Given the description of an element on the screen output the (x, y) to click on. 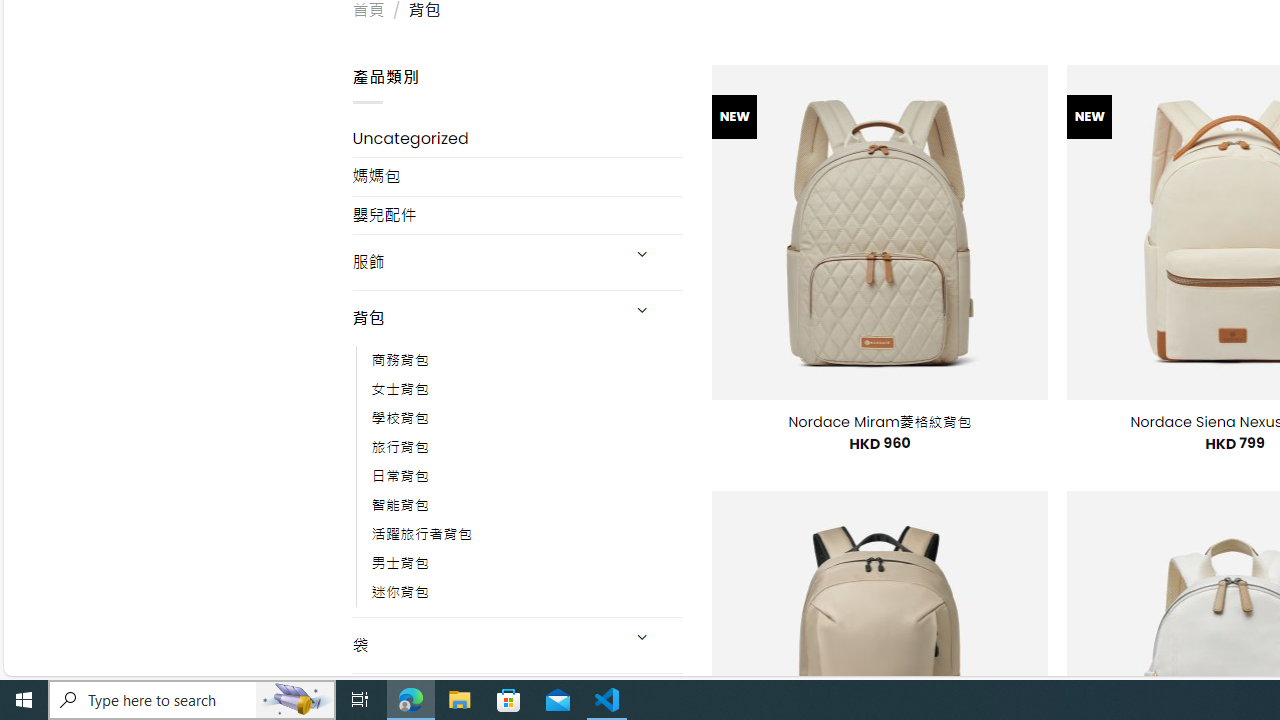
Uncategorized (517, 137)
